Given the description of an element on the screen output the (x, y) to click on. 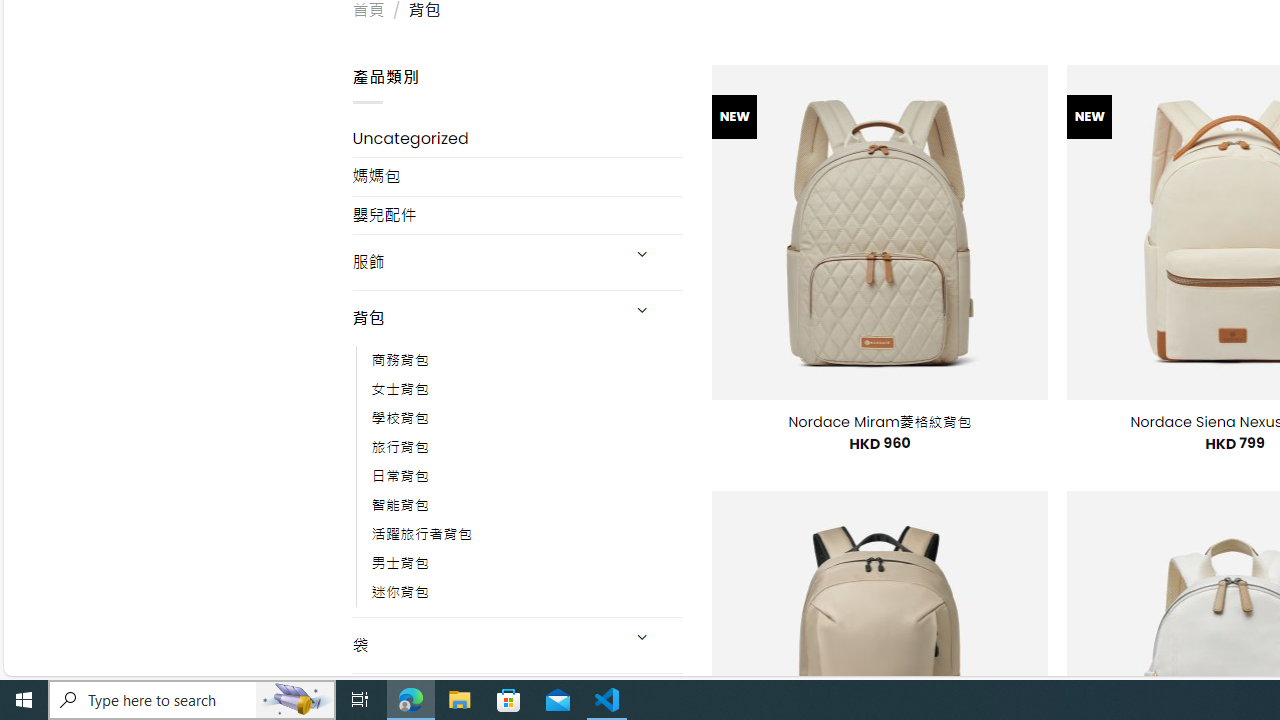
Uncategorized (517, 137)
